Given the description of an element on the screen output the (x, y) to click on. 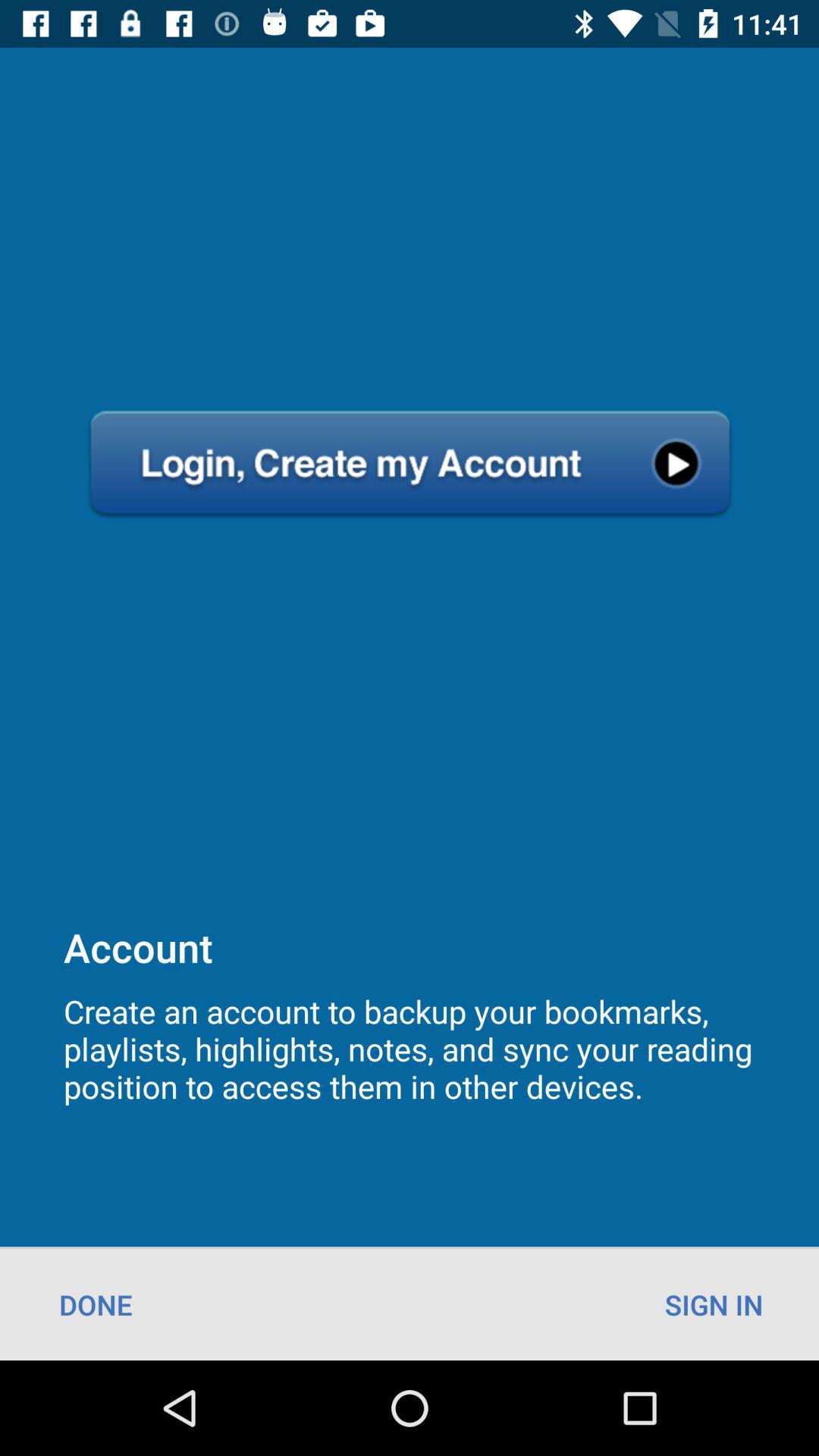
launch item at the bottom left corner (95, 1304)
